Given the description of an element on the screen output the (x, y) to click on. 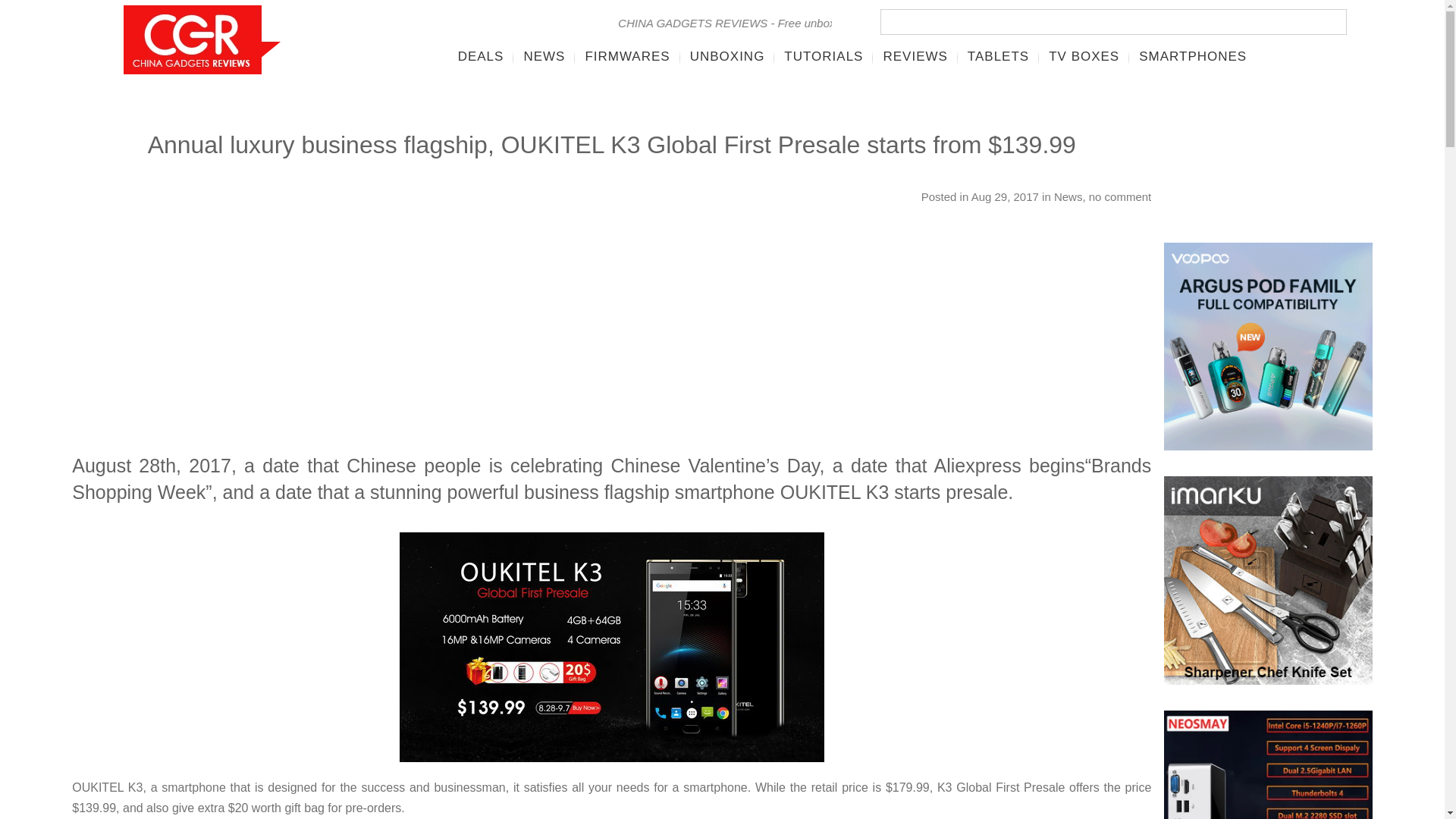
TABLETS (998, 56)
News (1068, 196)
DEALS (480, 56)
REVIEWS (914, 56)
FIRMWARES (627, 56)
SMARTPHONES (1192, 56)
NEWS (544, 56)
TV BOXES (1084, 56)
TUTORIALS (823, 56)
UNBOXING (726, 56)
